Given the description of an element on the screen output the (x, y) to click on. 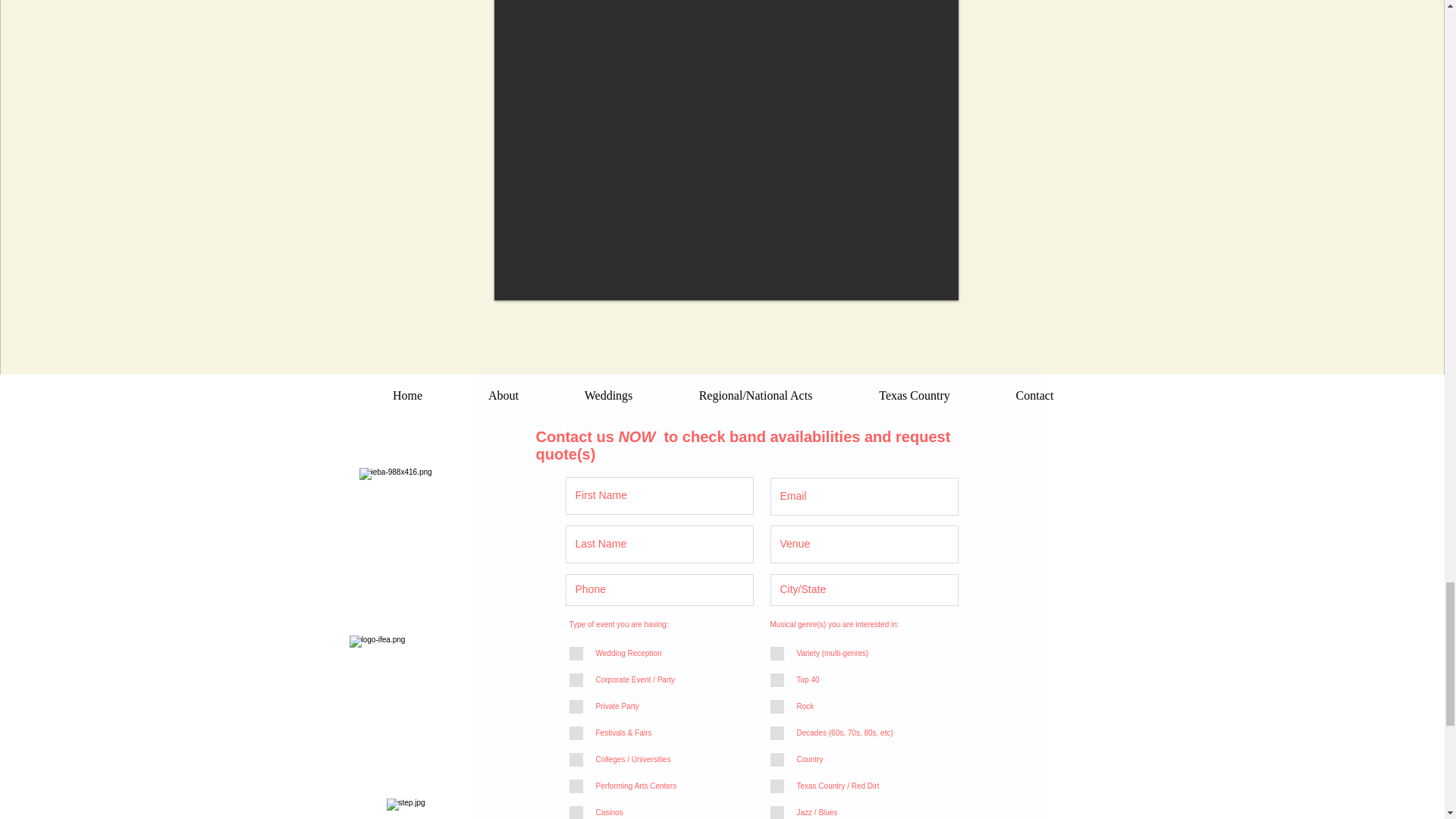
Home (406, 394)
